Given the description of an element on the screen output the (x, y) to click on. 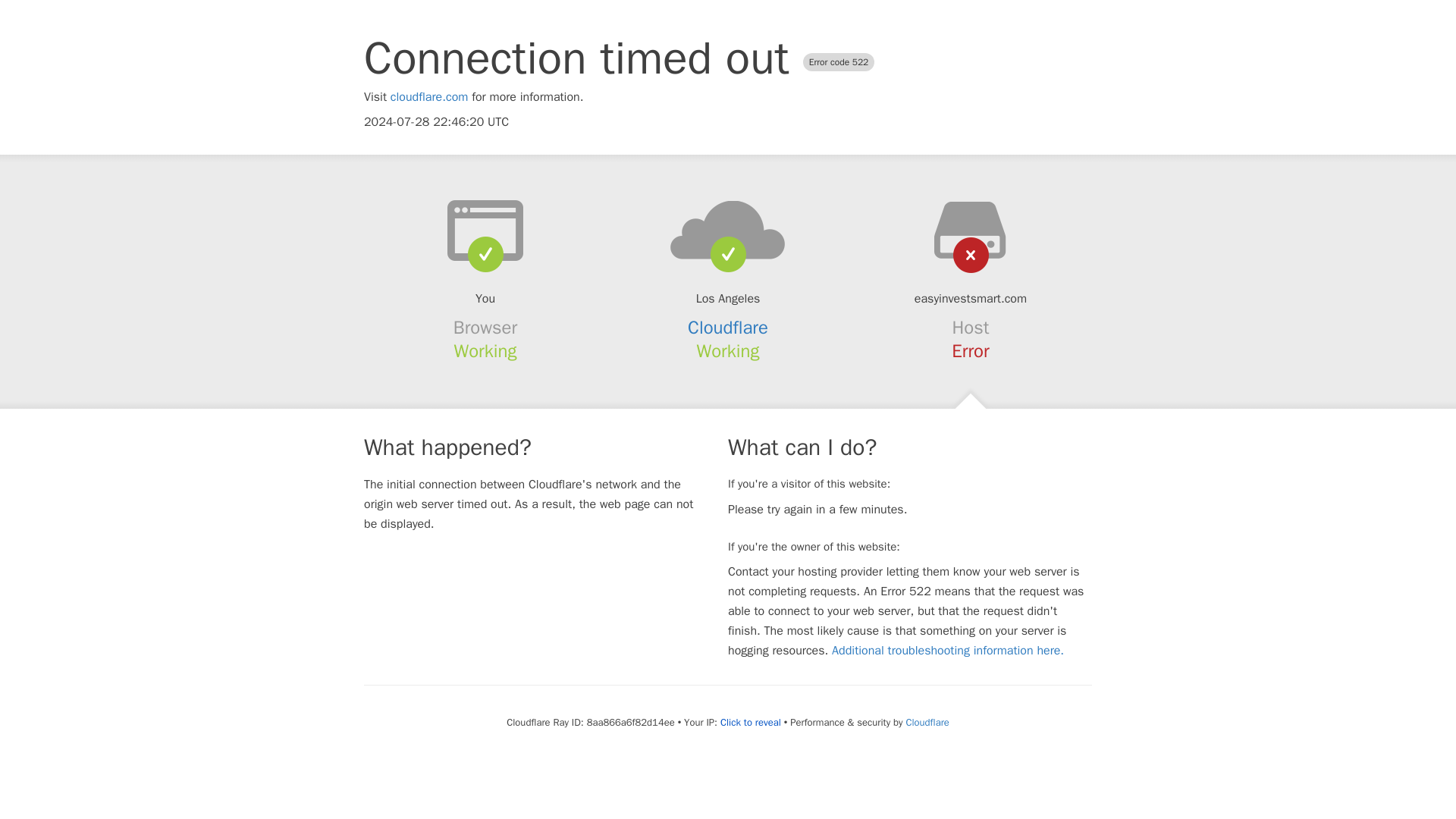
Cloudflare (727, 327)
cloudflare.com (429, 96)
Click to reveal (750, 722)
Additional troubleshooting information here. (947, 650)
Cloudflare (927, 721)
